Given the description of an element on the screen output the (x, y) to click on. 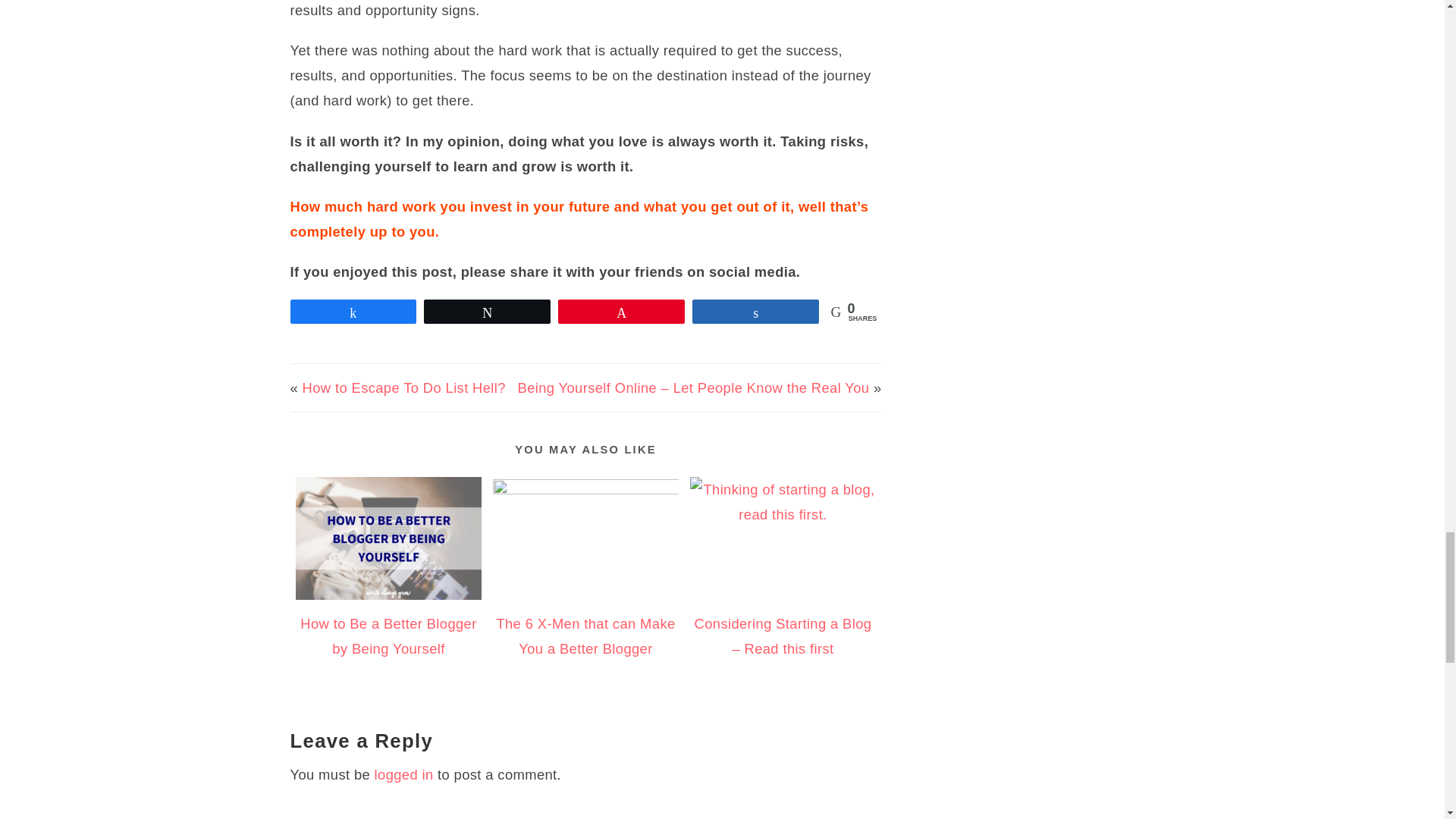
logged in (403, 774)
How to Be a Better Blogger by Being Yourself (387, 635)
The 6 X-Men that can Make You a Better Blogger (585, 635)
How to Escape To Do List Hell? (403, 387)
